Given the description of an element on the screen output the (x, y) to click on. 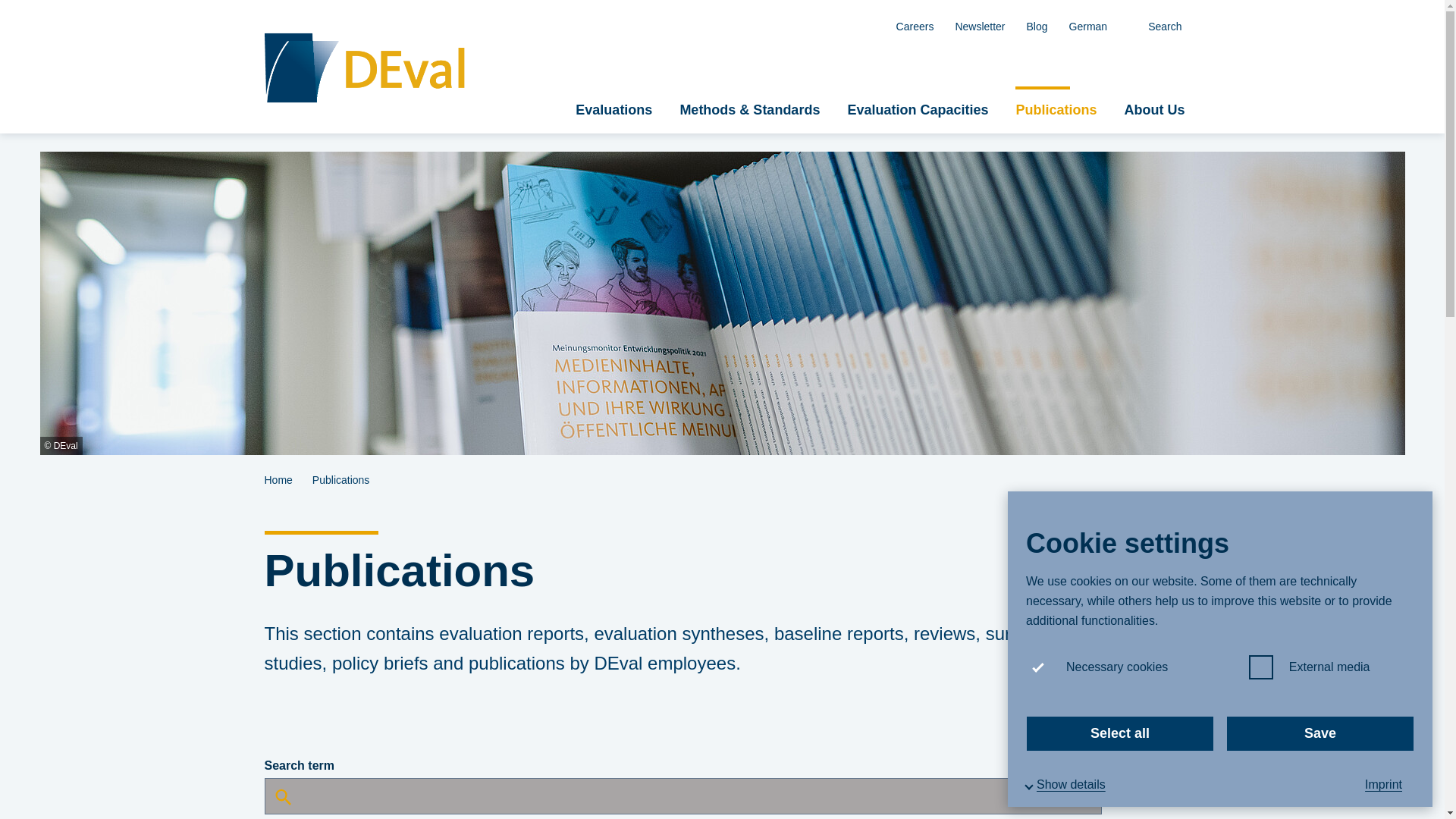
German (1088, 26)
Careers (914, 26)
Publications (1055, 109)
Newsletter (978, 26)
About Us (1153, 109)
Search (1155, 26)
Evaluations (613, 109)
